Given the description of an element on the screen output the (x, y) to click on. 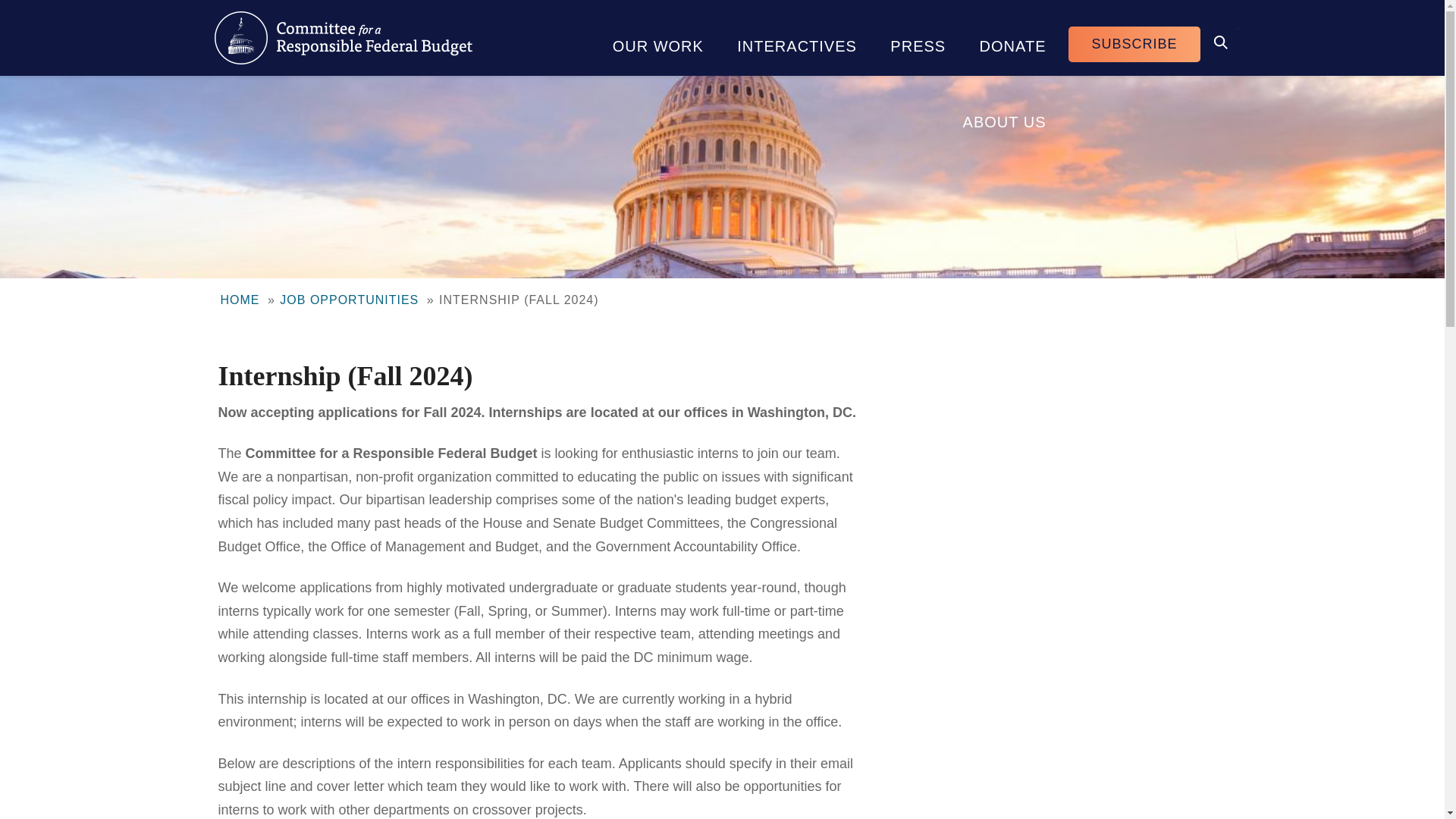
INTERACTIVES (797, 38)
ABOUT US (1004, 113)
Committee for a Responsible Federal Budget (342, 37)
DONATE (1012, 38)
PRESS (917, 38)
OUR WORK (657, 38)
